Given the description of an element on the screen output the (x, y) to click on. 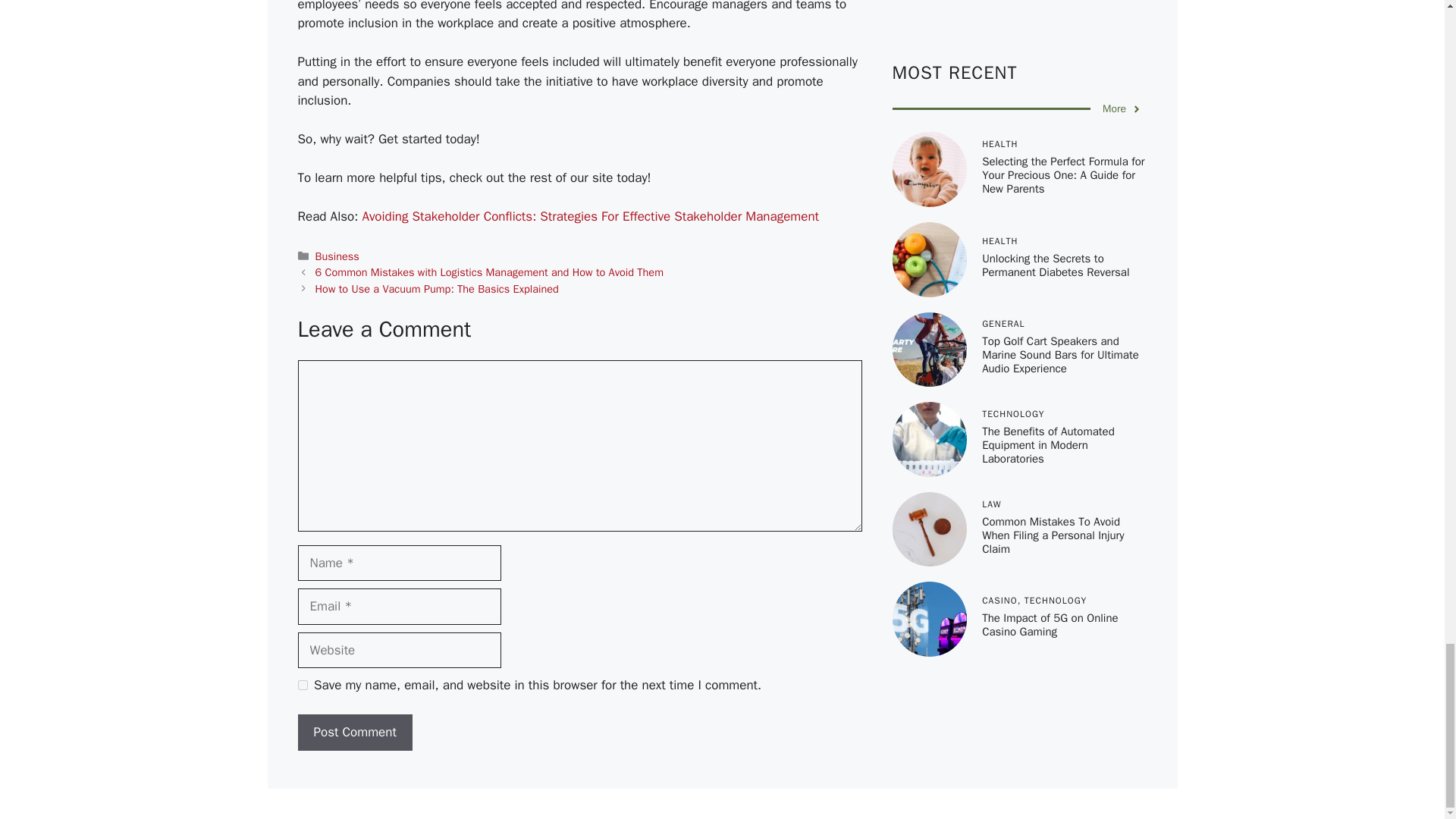
yes (302, 685)
Post Comment (354, 732)
